Given the description of an element on the screen output the (x, y) to click on. 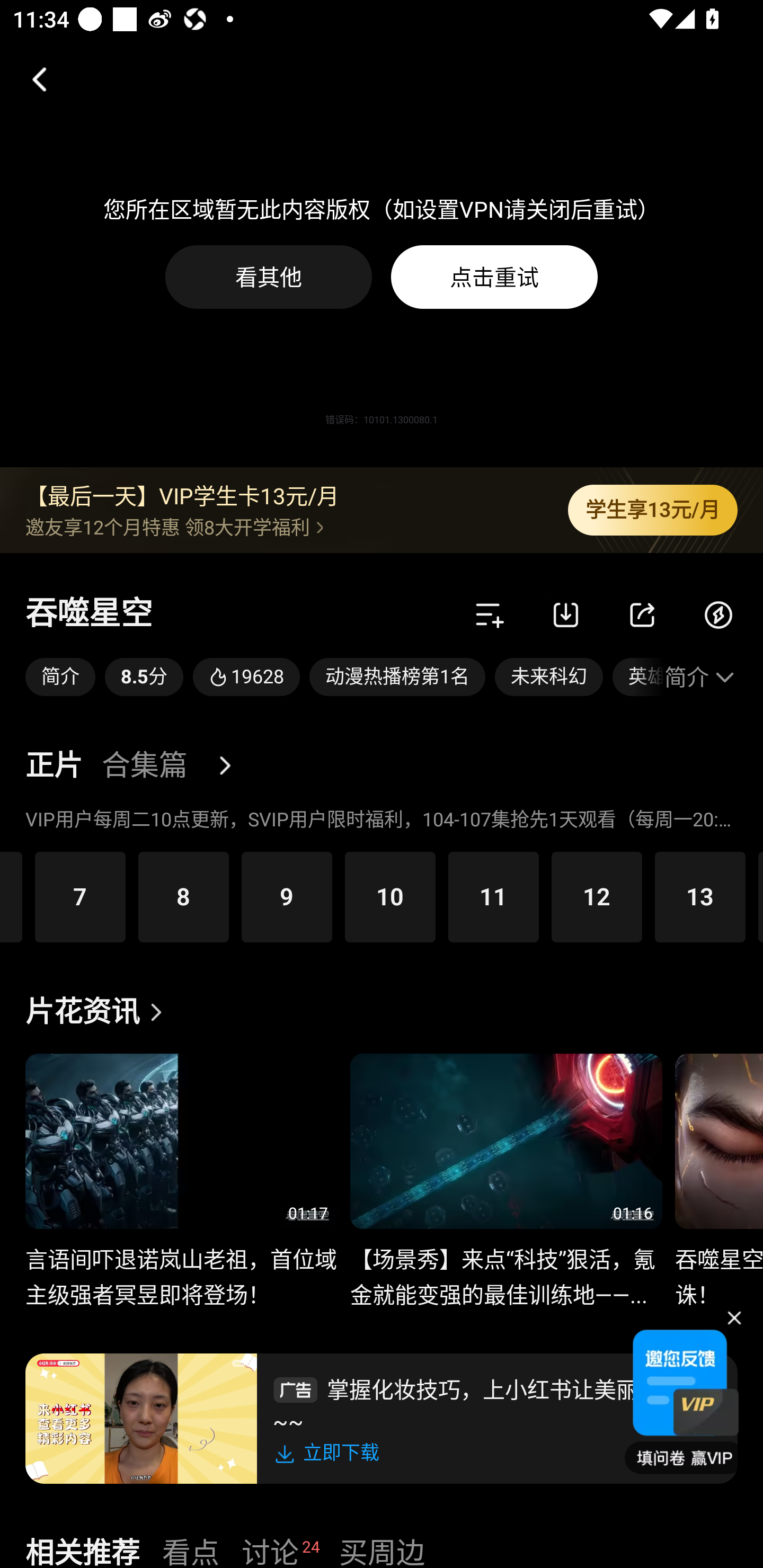
返回，按钮 (31, 78)
看其他 您所在区域暂无此内容版权（如设置VPN请关闭后重试） 看其他按钮 (268, 276)
点击重试 您所在区域暂无此内容版权（如设置VPN请关闭后重试） 点击重试按钮 (493, 276)
学生享13元/月 (652, 510)
邀友享12个月特惠 领8大开学福利 (283, 526)
吞噬星空 (88, 614)
加追,双击可加追,按钮 (489, 614)
下载,链接 (566, 614)
分享,链接 (642, 614)
发电,链接 (718, 614)
简介 简介,链接 (60, 677)
8.5分 8.5分,链接 (144, 677)
19628 热度值 19628,链接 (246, 677)
动漫热播榜第1名 动漫热播榜第1名,链接 (397, 677)
未来科幻 未来科幻,链接 (548, 677)
英雄成长 英雄成长,链接 (638, 677)
简介 (700, 677)
正片 (53, 765)
合集篇 (144, 765)
更多,链接 (231, 765)
第7集 7 (80, 896)
第8集 8 (183, 896)
第9集 9 (286, 896)
第10集 10 (389, 896)
第11集 11 (493, 896)
第12集 12 (596, 896)
第13集 13 (699, 896)
片花资讯 链接 (98, 1011)
言语间吓退诺岚山老祖，首位域主级强者冥昱即将登场！ (181, 1267)
【场景秀】来点“科技”狠活，氪金就能变强的最佳训练地——... (506, 1267)
imgimg掌握化妆技巧，上小红书让美丽不等待~~ (497, 1403)
立即下载 (330, 1452)
相关推荐 (82, 1549)
看点 (190, 1549)
讨论 (270, 1549)
买周边 (381, 1549)
